Given the description of an element on the screen output the (x, y) to click on. 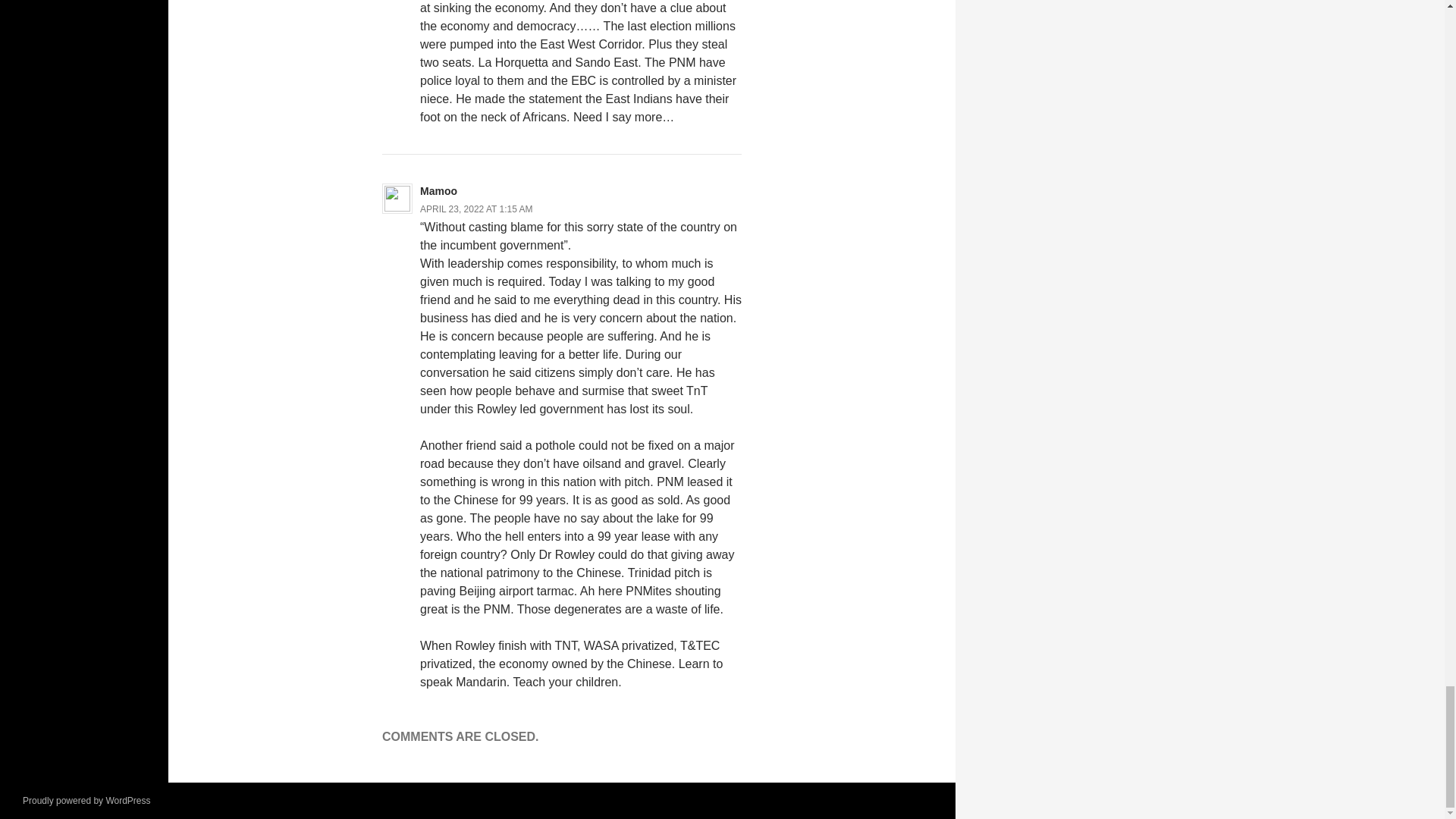
APRIL 23, 2022 AT 1:15 AM (476, 208)
